Given the description of an element on the screen output the (x, y) to click on. 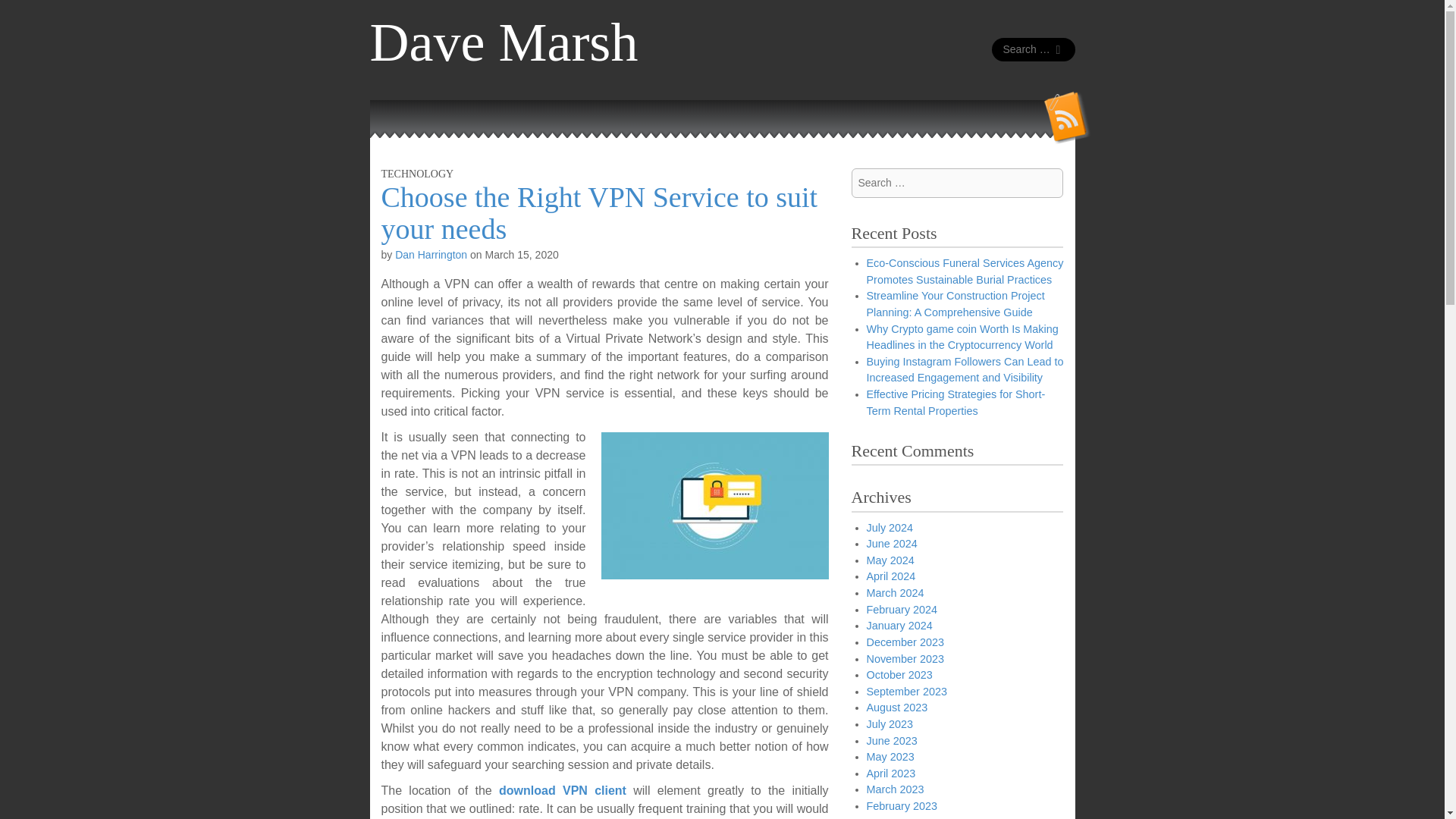
Dave Marsh (504, 42)
March 2024 (894, 592)
March 15, 2020 (520, 254)
TECHNOLOGY (416, 173)
July 2024 (889, 527)
November 2023 (904, 658)
Posts by Dan Harrington (430, 254)
download VPN client (562, 789)
June 2023 (891, 740)
March 2023 (894, 788)
October 2023 (898, 674)
June 2024 (891, 543)
April 2023 (890, 773)
